Given the description of an element on the screen output the (x, y) to click on. 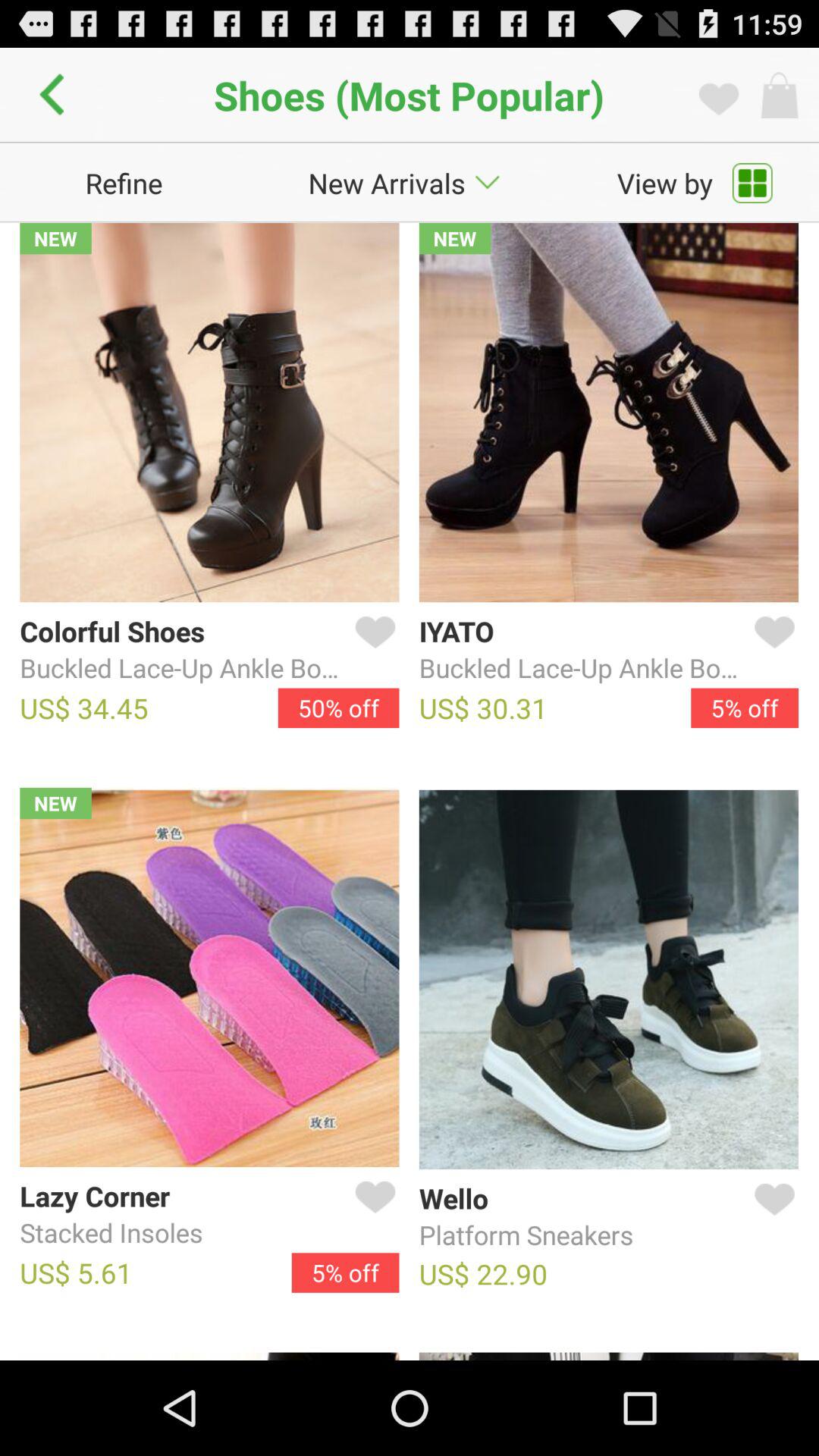
favorite this item (771, 650)
